Given the description of an element on the screen output the (x, y) to click on. 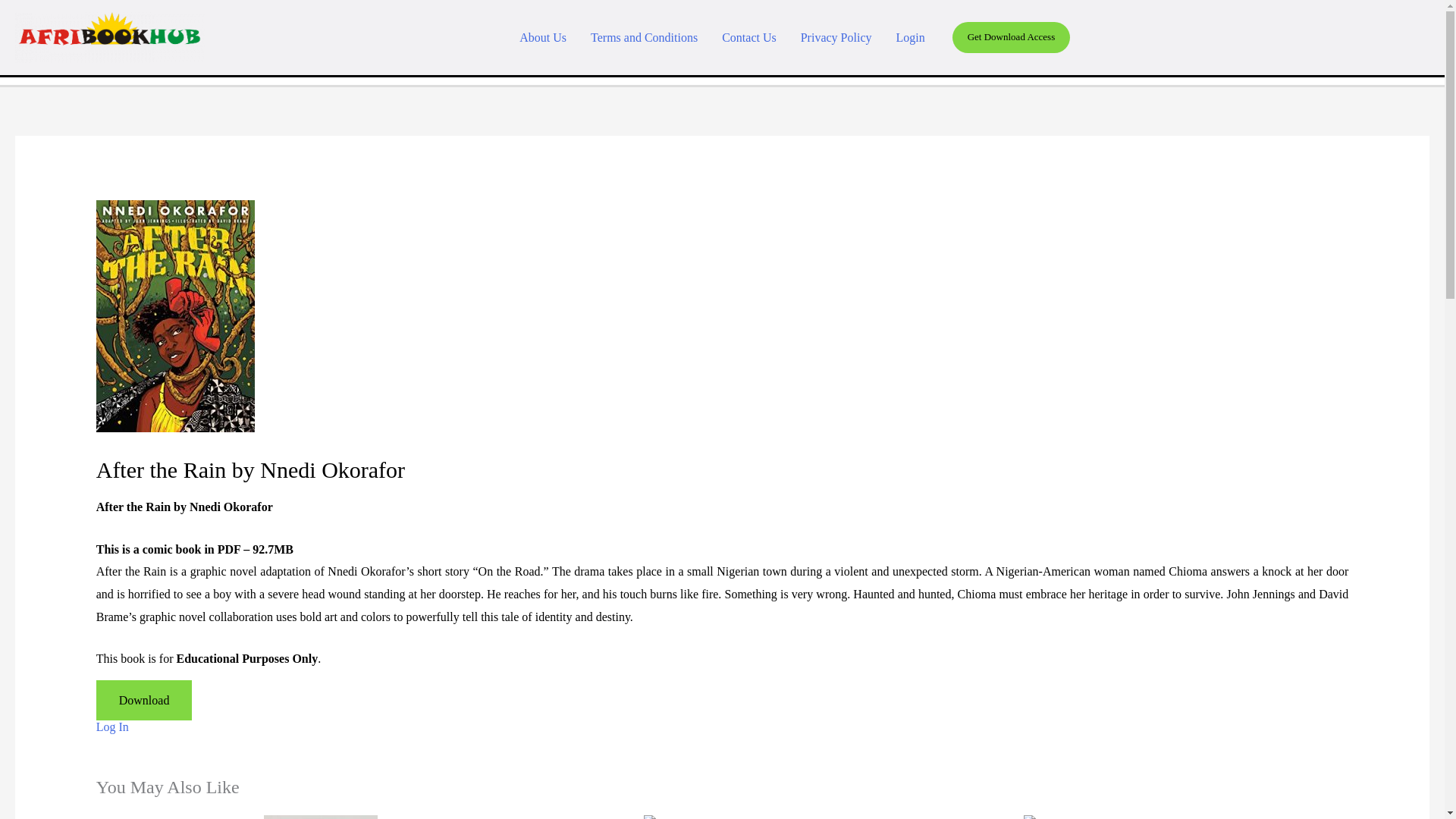
Get Download Access (1011, 37)
Contact Us (749, 37)
Privacy Policy (836, 37)
Terms and Conditions (644, 37)
Log In (112, 726)
About Us (542, 37)
Login (909, 37)
Download (144, 700)
